Given the description of an element on the screen output the (x, y) to click on. 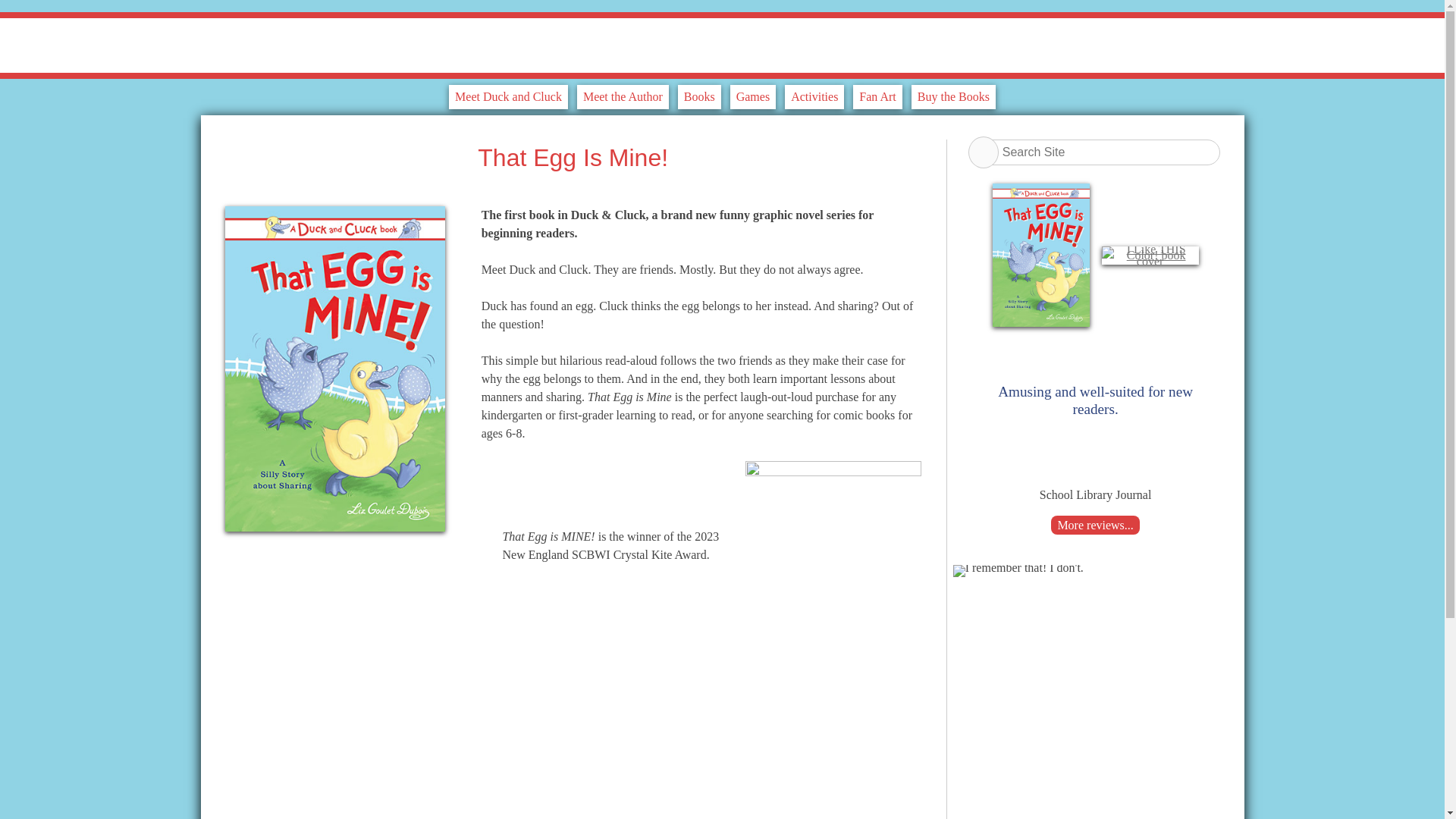
Games (753, 96)
Search (983, 152)
duckandcluck-That-Egg-Is-Mine-book-cover (334, 521)
duckandcluck-I-Like-THIS-Color-book-cover (1150, 260)
duckandcluck-That-Egg-Is-Mine-book-cover (1040, 322)
Fan Art (877, 96)
Meet the Author (622, 96)
Search (983, 152)
Activities (814, 96)
Buy the Books (953, 96)
